Given the description of an element on the screen output the (x, y) to click on. 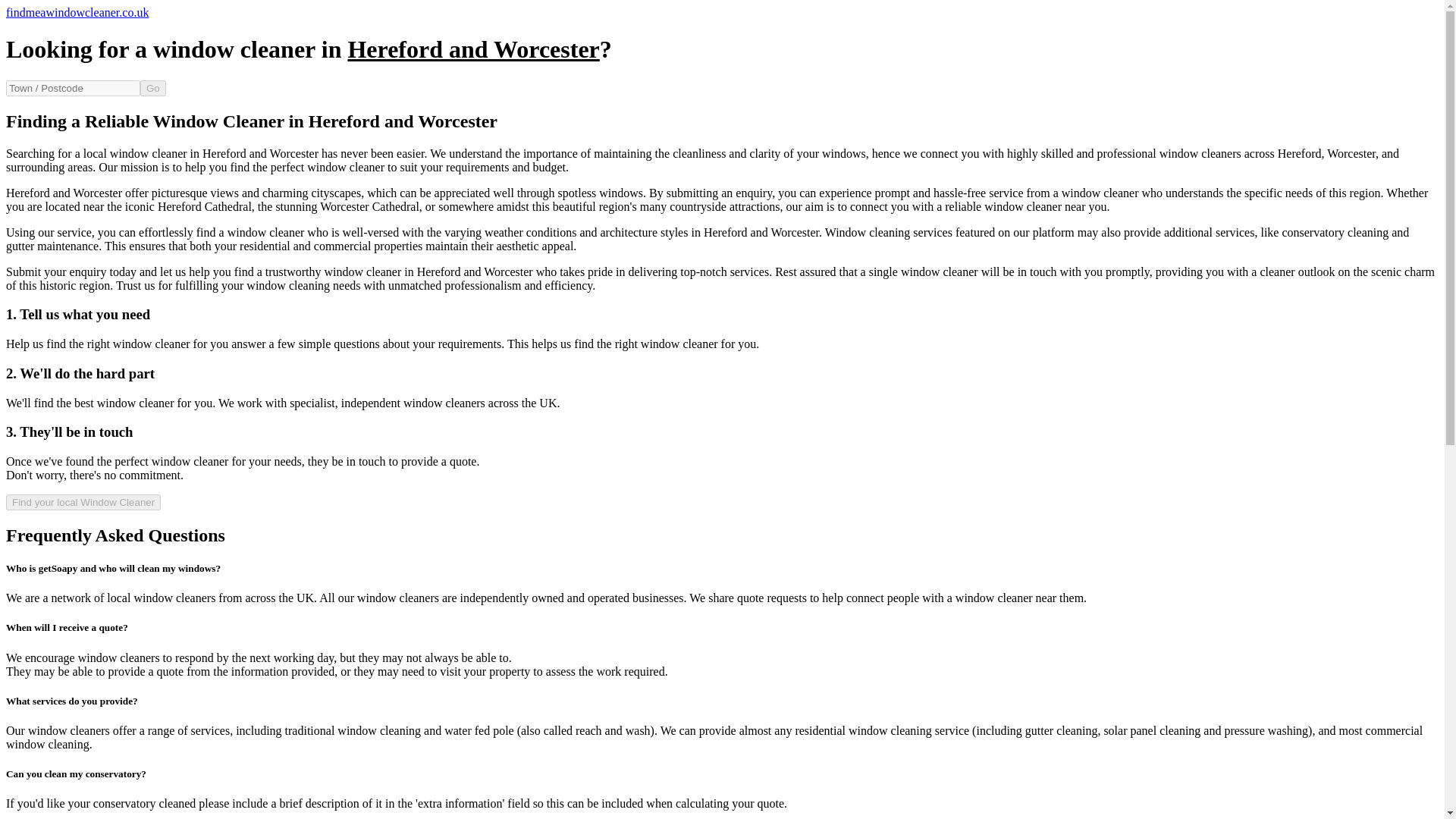
findmeawindowcleaner.co.uk (76, 11)
Go (152, 88)
Go (152, 88)
Find your local Window Cleaner (82, 502)
